Given the description of an element on the screen output the (x, y) to click on. 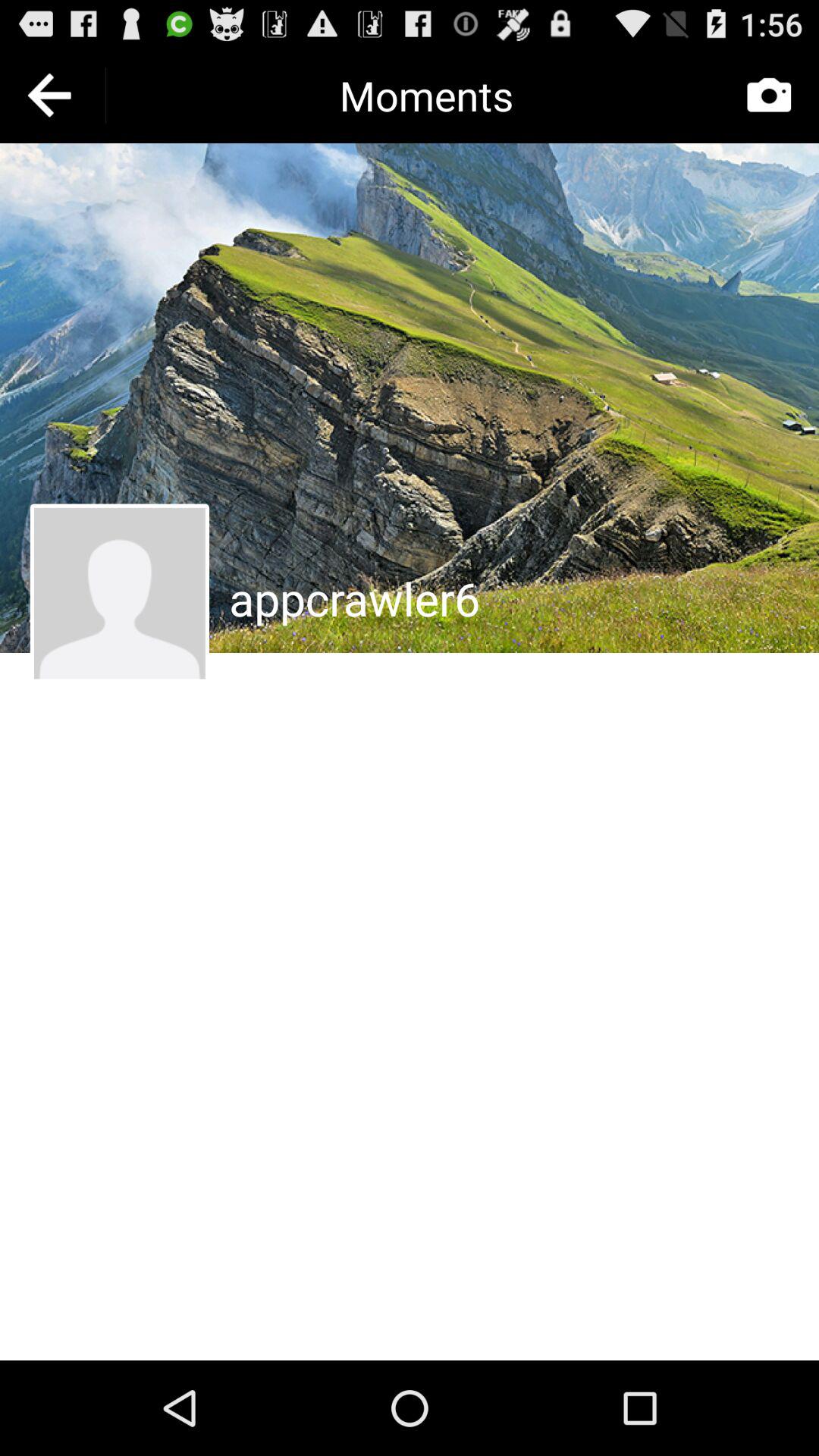
click profile icon (119, 593)
